Given the description of an element on the screen output the (x, y) to click on. 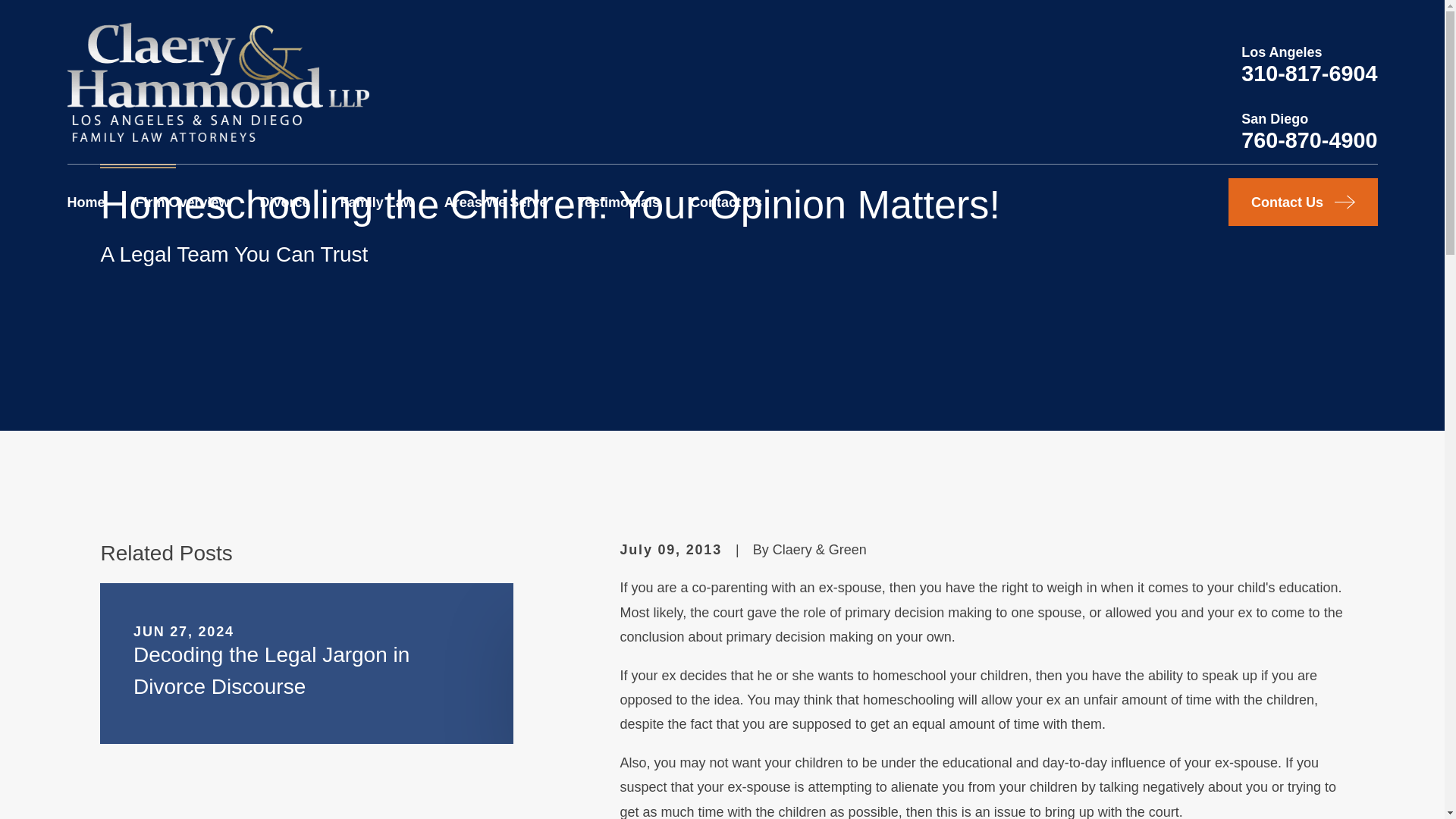
Family Law (376, 202)
310-817-6904 (1309, 73)
760-870-4900 (1309, 139)
Firm Overview (182, 202)
Divorce (285, 202)
Home (217, 81)
